Given the description of an element on the screen output the (x, y) to click on. 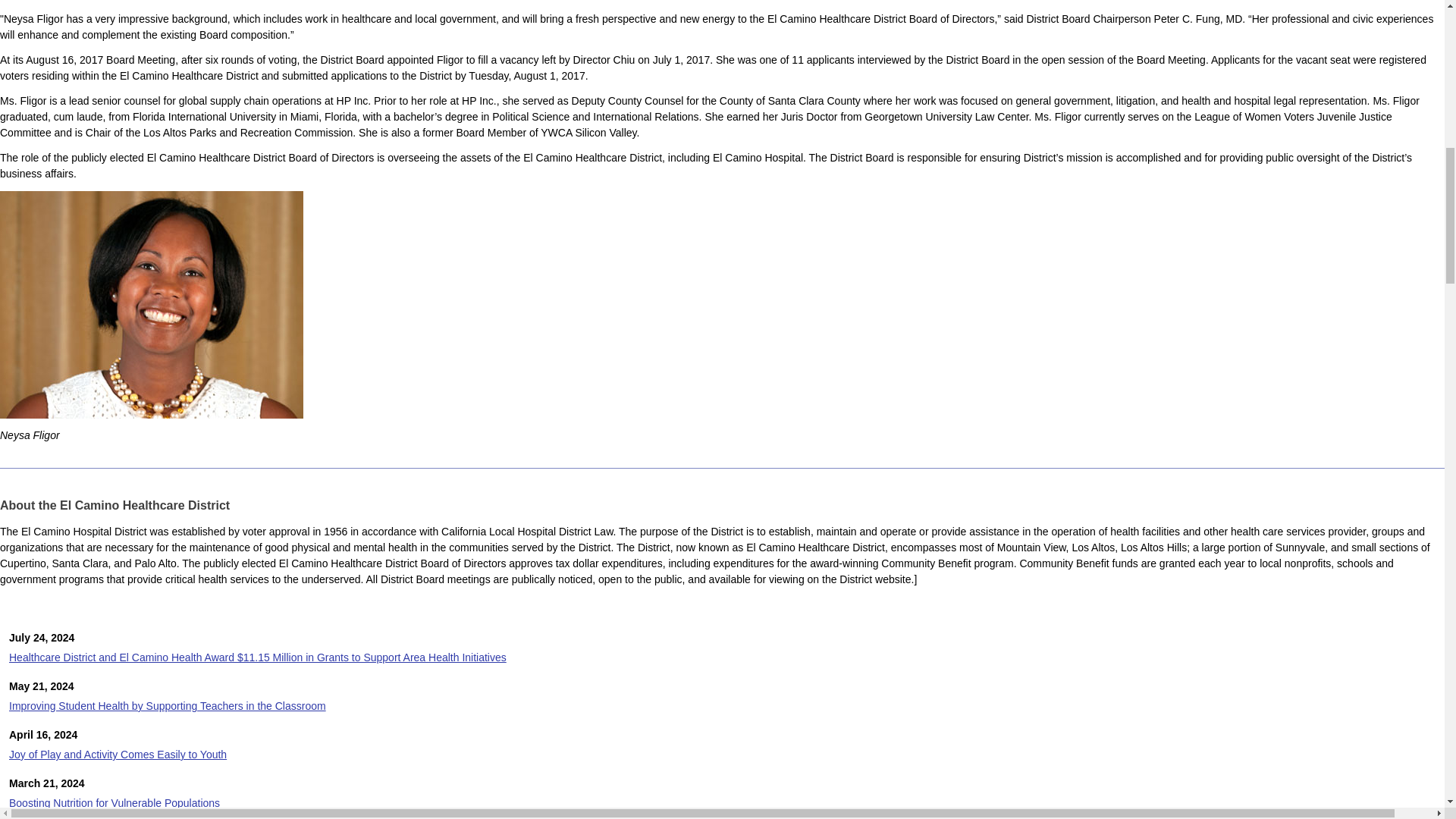
Boosting Nutrition for Vulnerable Populations (113, 802)
Joy of Play and Activity Comes Easily to Youth (117, 754)
